Given the description of an element on the screen output the (x, y) to click on. 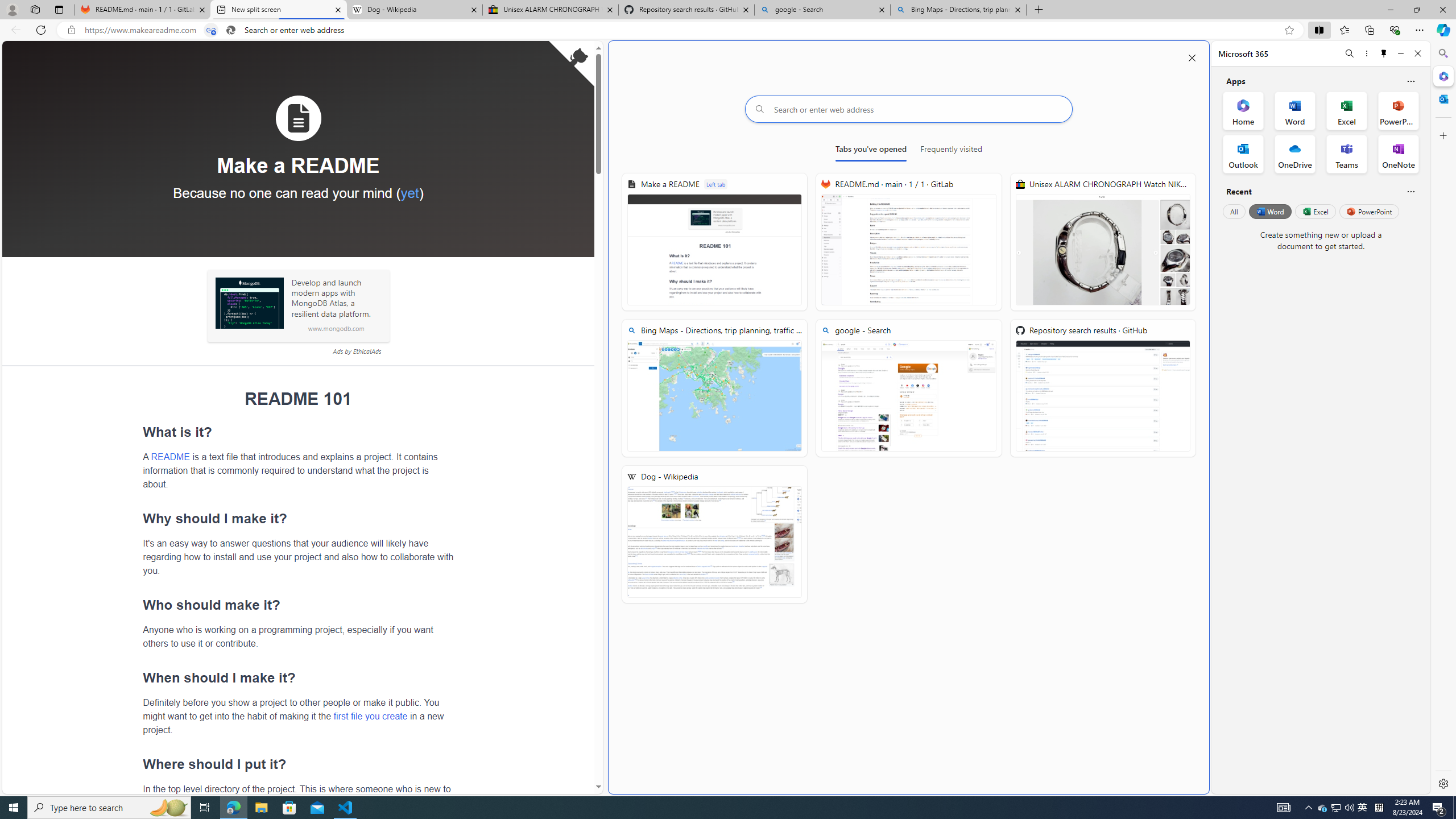
Make a README (714, 242)
Anchor (137, 764)
Is this helpful? (1410, 191)
google - Search (822, 9)
google - Search (908, 388)
Frequently visited (951, 151)
Word (1269, 210)
PowerPoint Office App (1398, 110)
Tabs you've opened (870, 151)
